Given the description of an element on the screen output the (x, y) to click on. 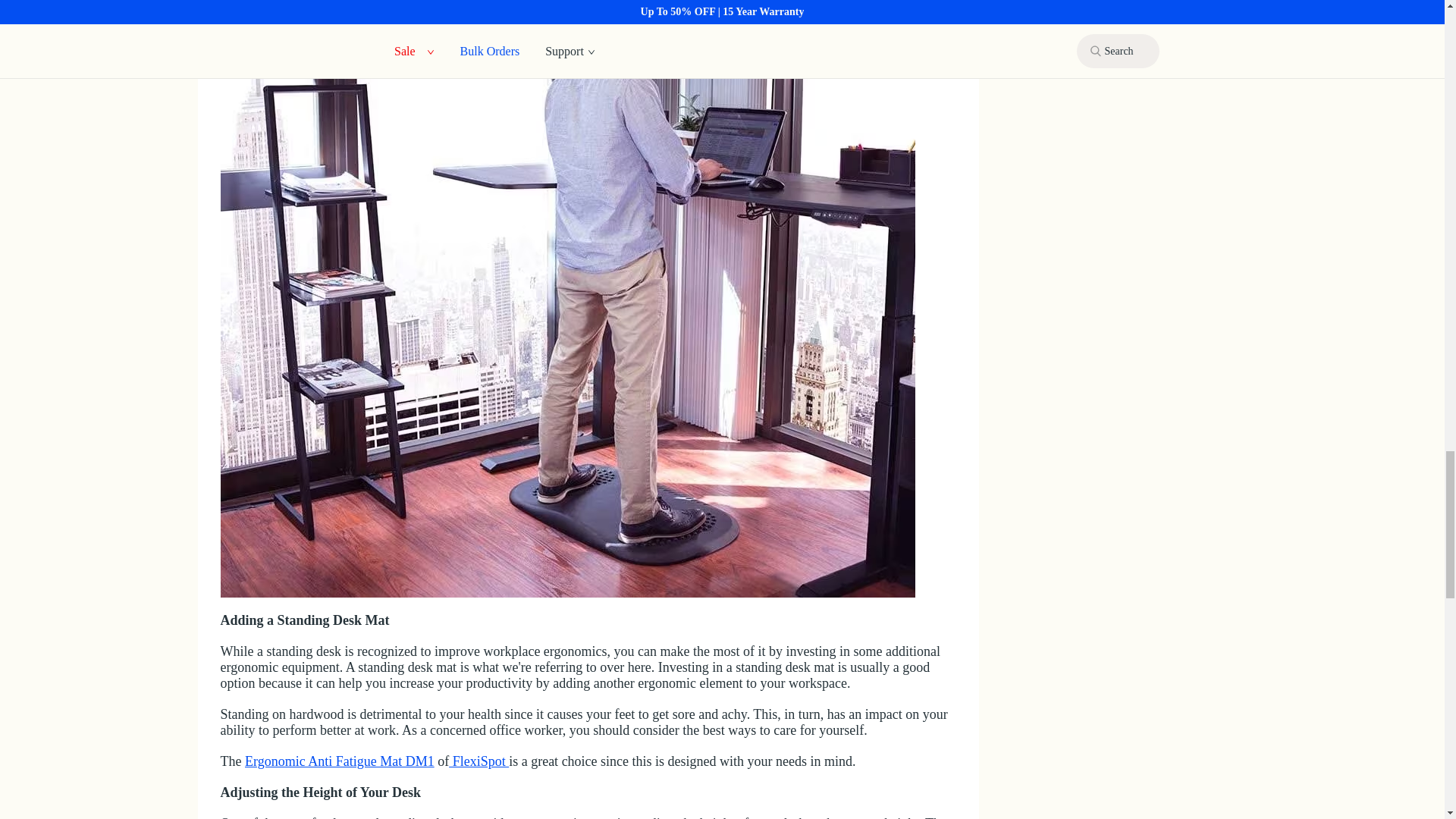
 FlexiSpot  (478, 761)
Ergonomic Anti Fatigue Mat DM1 (338, 761)
